Given the description of an element on the screen output the (x, y) to click on. 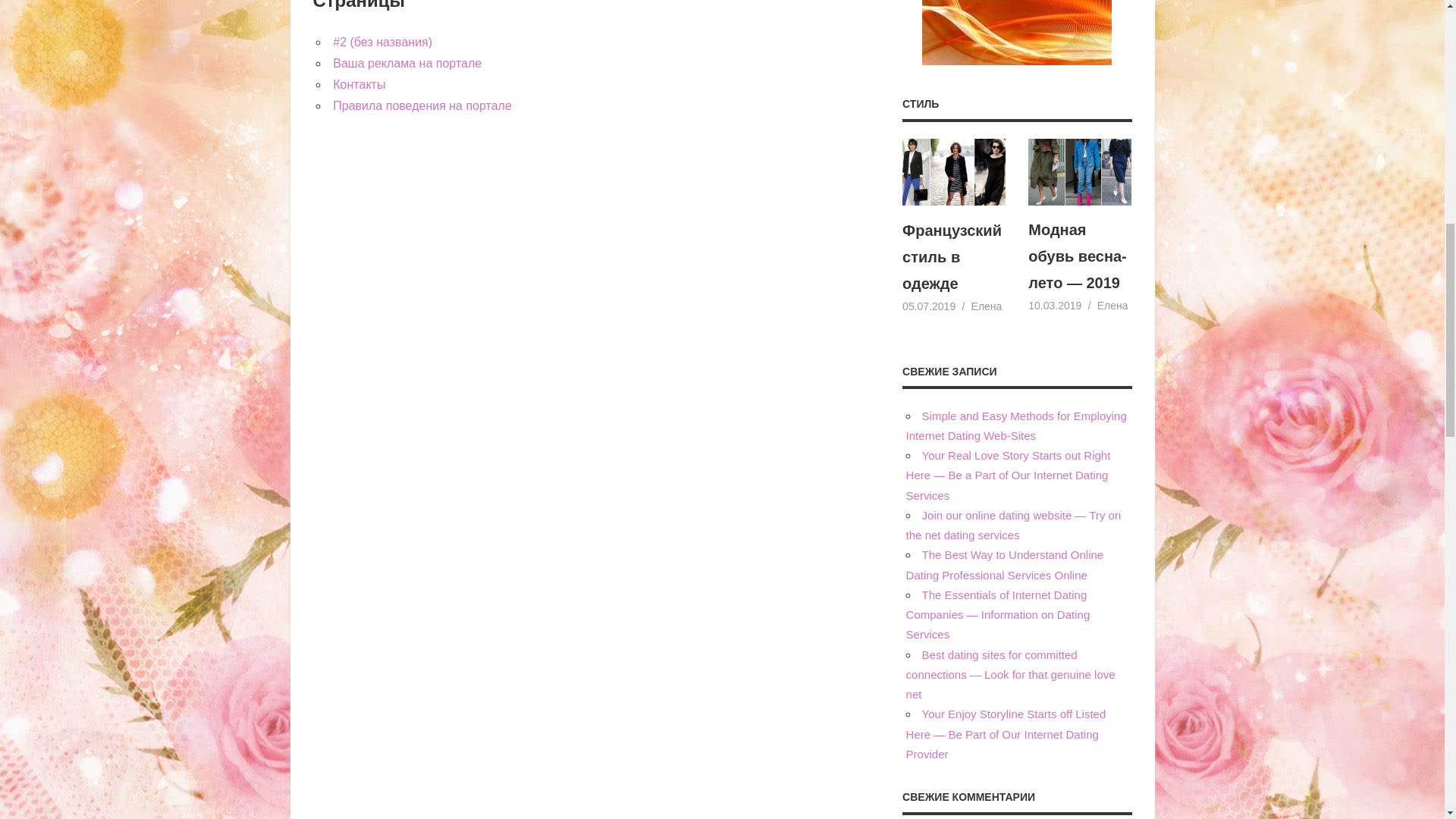
21:32 (1054, 305)
22:00 (928, 306)
